Given the description of an element on the screen output the (x, y) to click on. 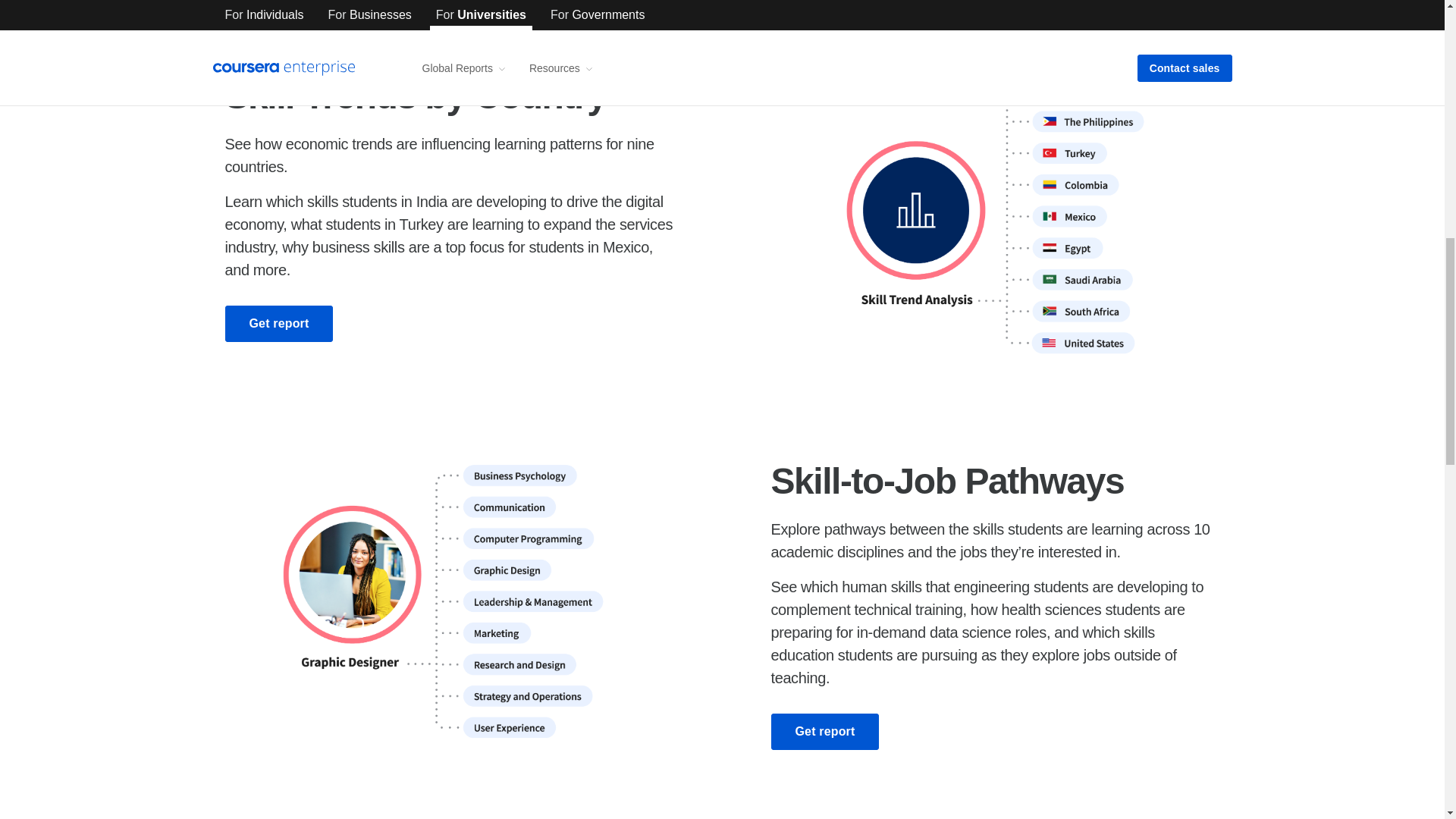
Get report (278, 323)
Get report (824, 731)
